Given the description of an element on the screen output the (x, y) to click on. 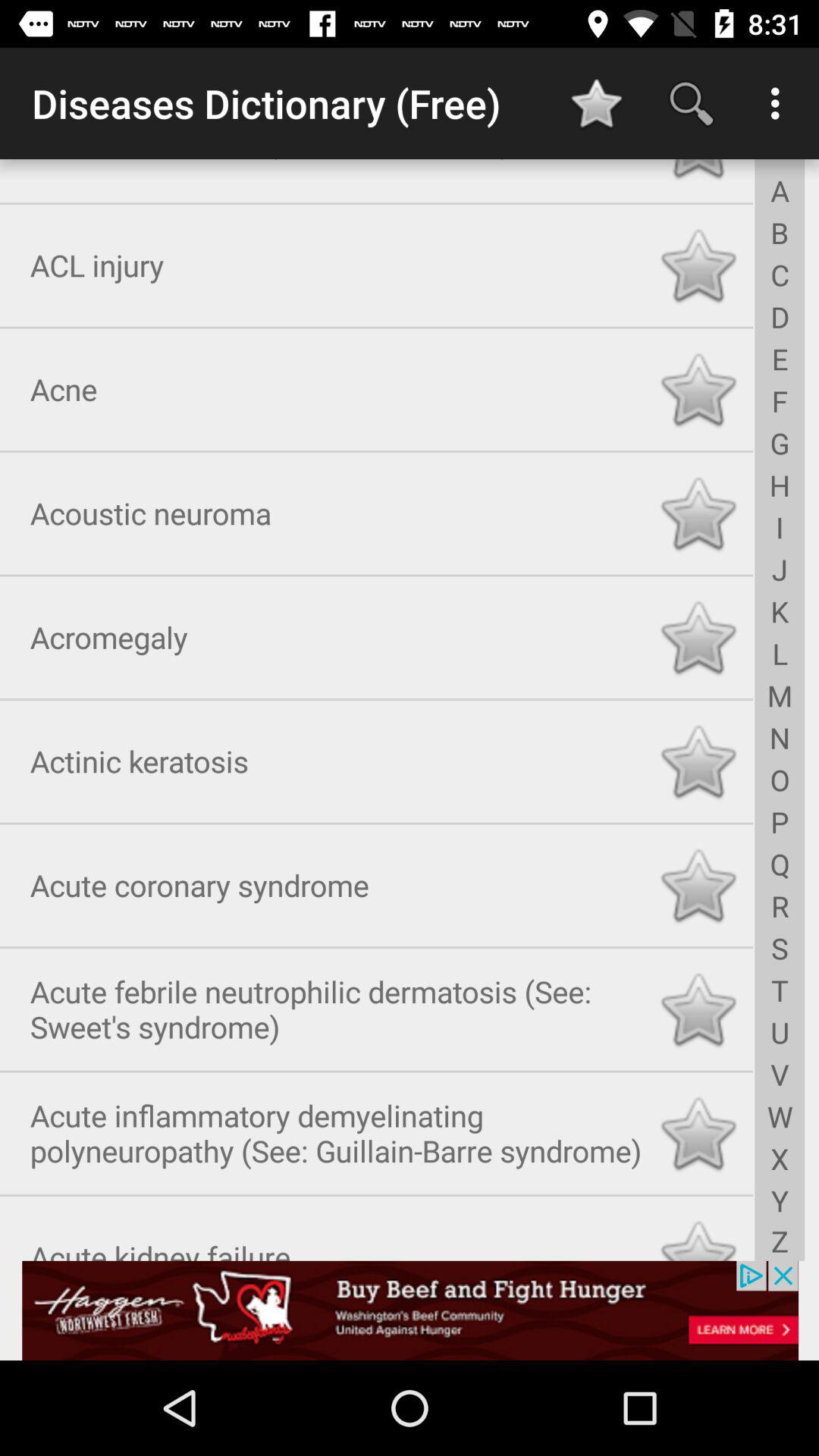
select option (697, 882)
